Given the description of an element on the screen output the (x, y) to click on. 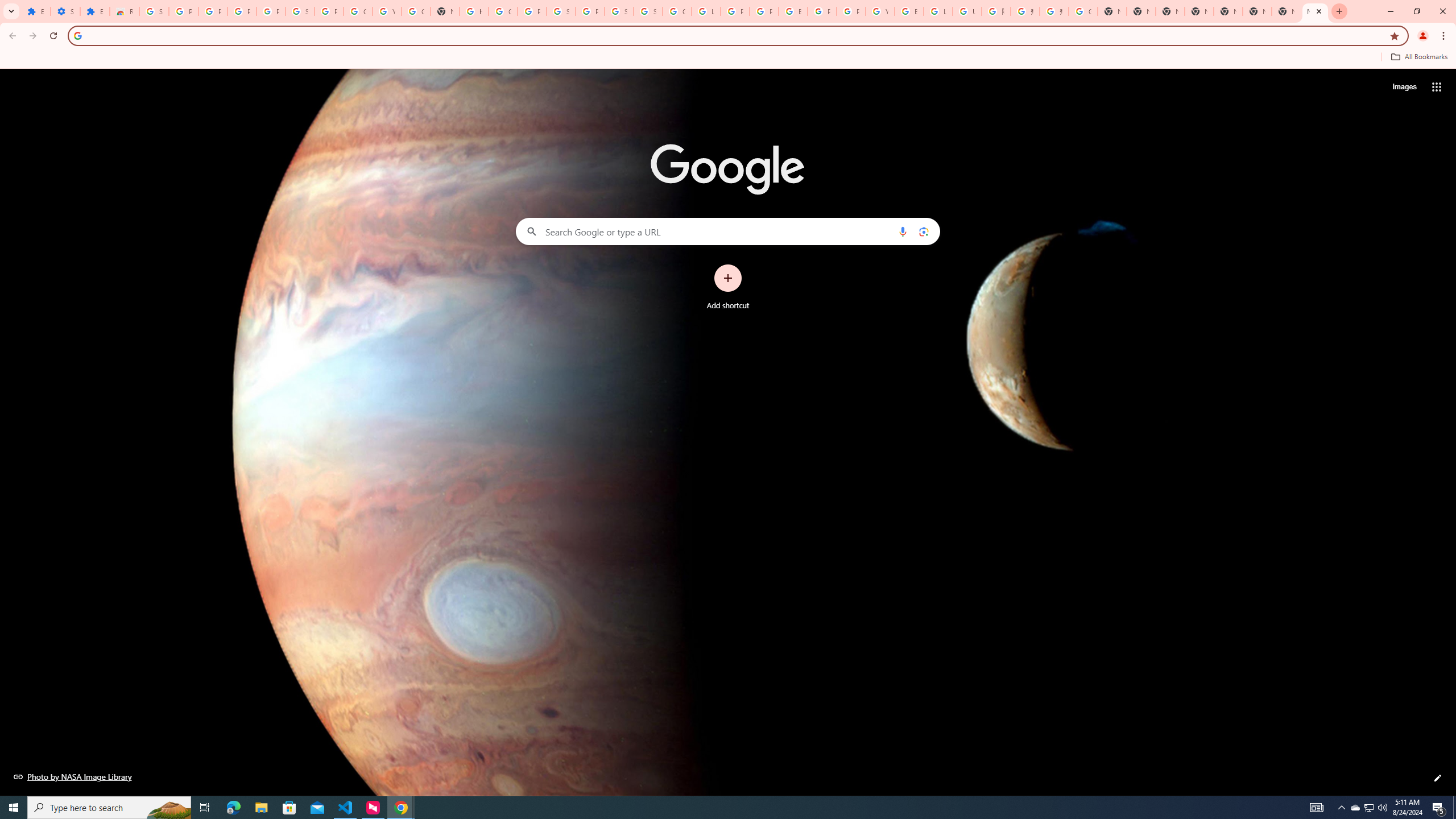
New Tab (1256, 11)
